Given the description of an element on the screen output the (x, y) to click on. 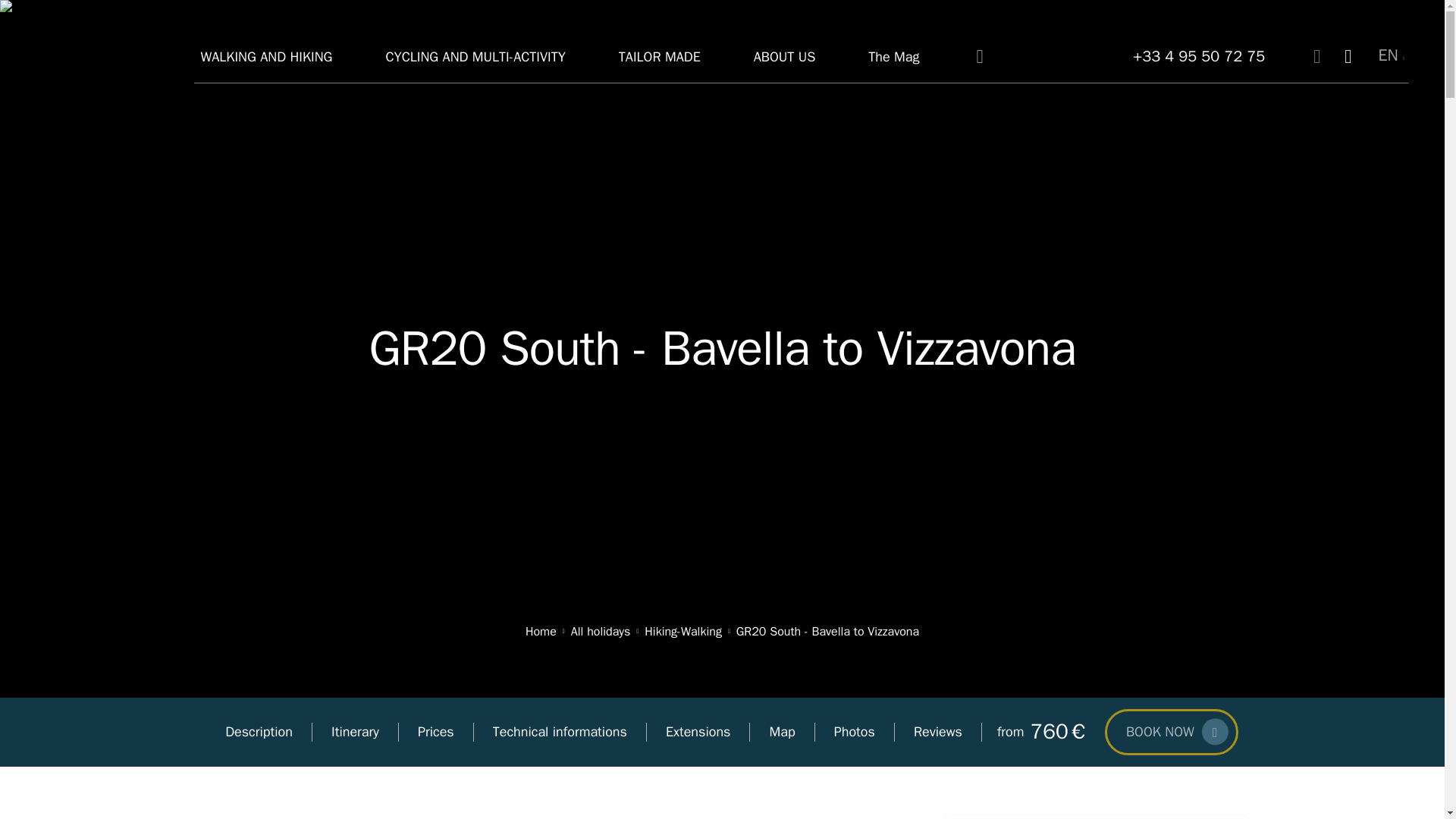
EN (1390, 56)
